Given the description of an element on the screen output the (x, y) to click on. 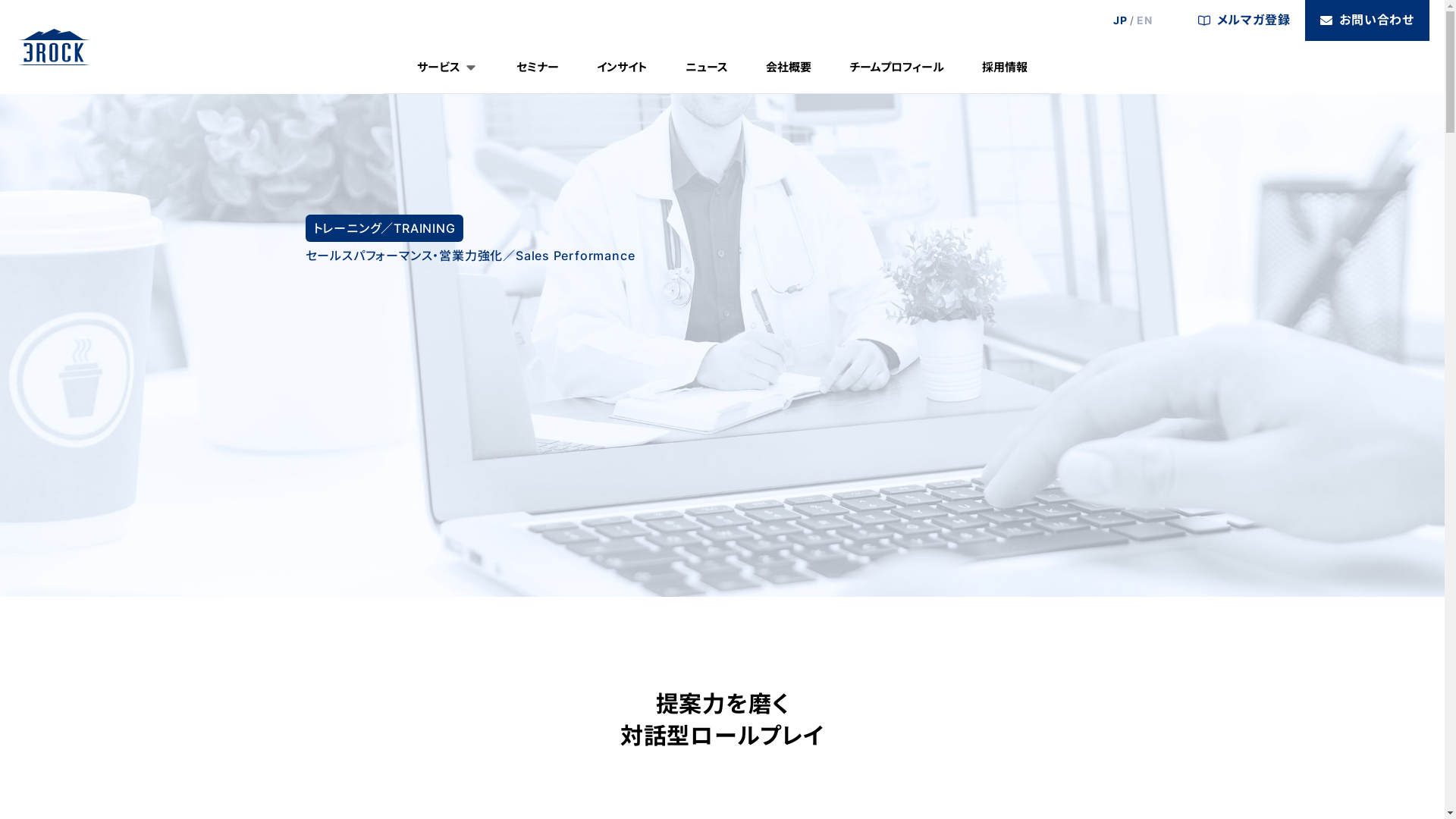
JP Element type: text (1120, 20)
EN Element type: text (1144, 20)
